Given the description of an element on the screen output the (x, y) to click on. 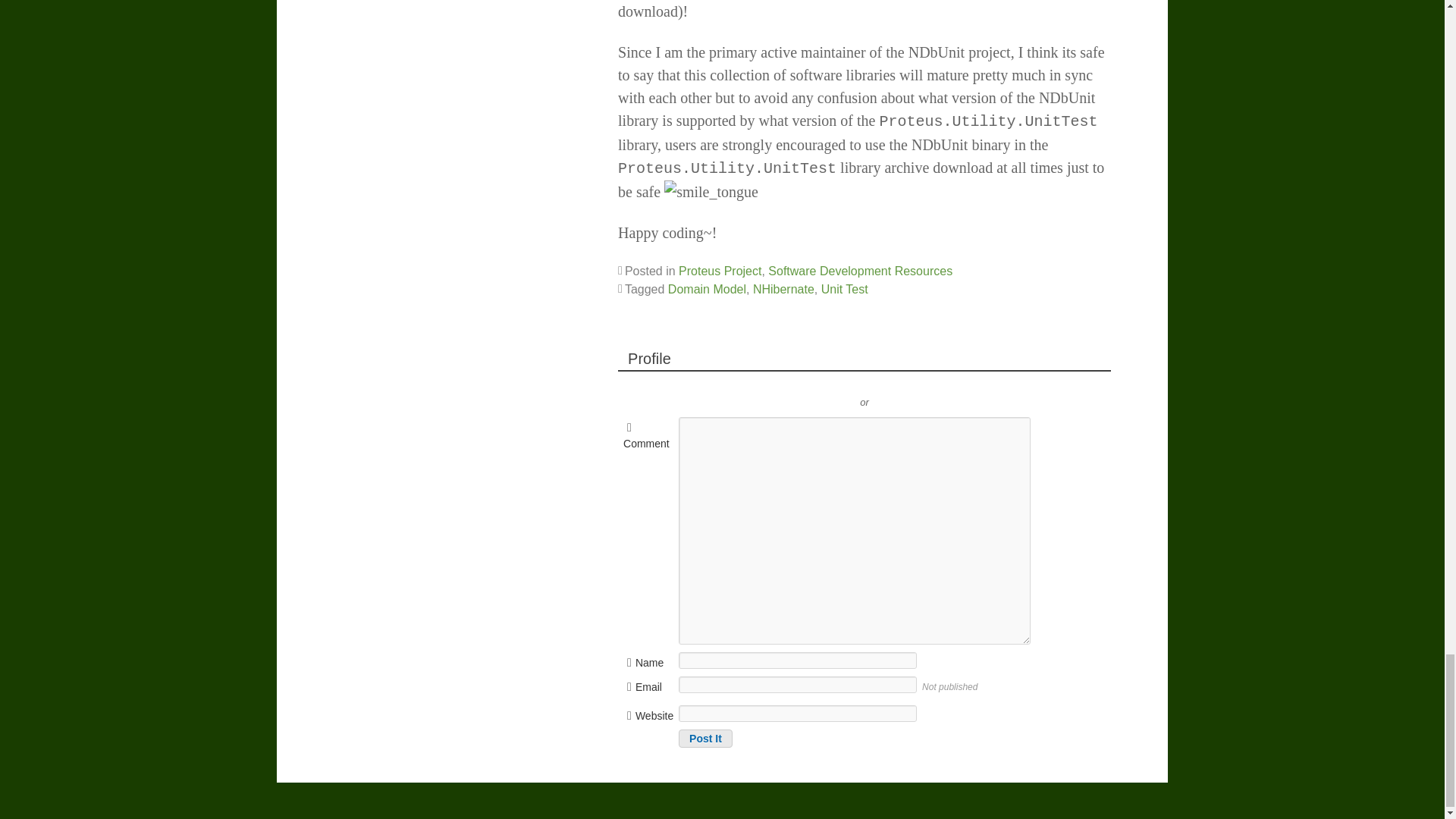
NHibernate (782, 288)
Domain Model (706, 288)
Post It (705, 738)
Post It (705, 738)
Proteus Project (719, 270)
Sign in with Facebook (933, 379)
Unit Test (844, 288)
Sign in with Twitter (796, 379)
Software Development Resources (860, 270)
